Given the description of an element on the screen output the (x, y) to click on. 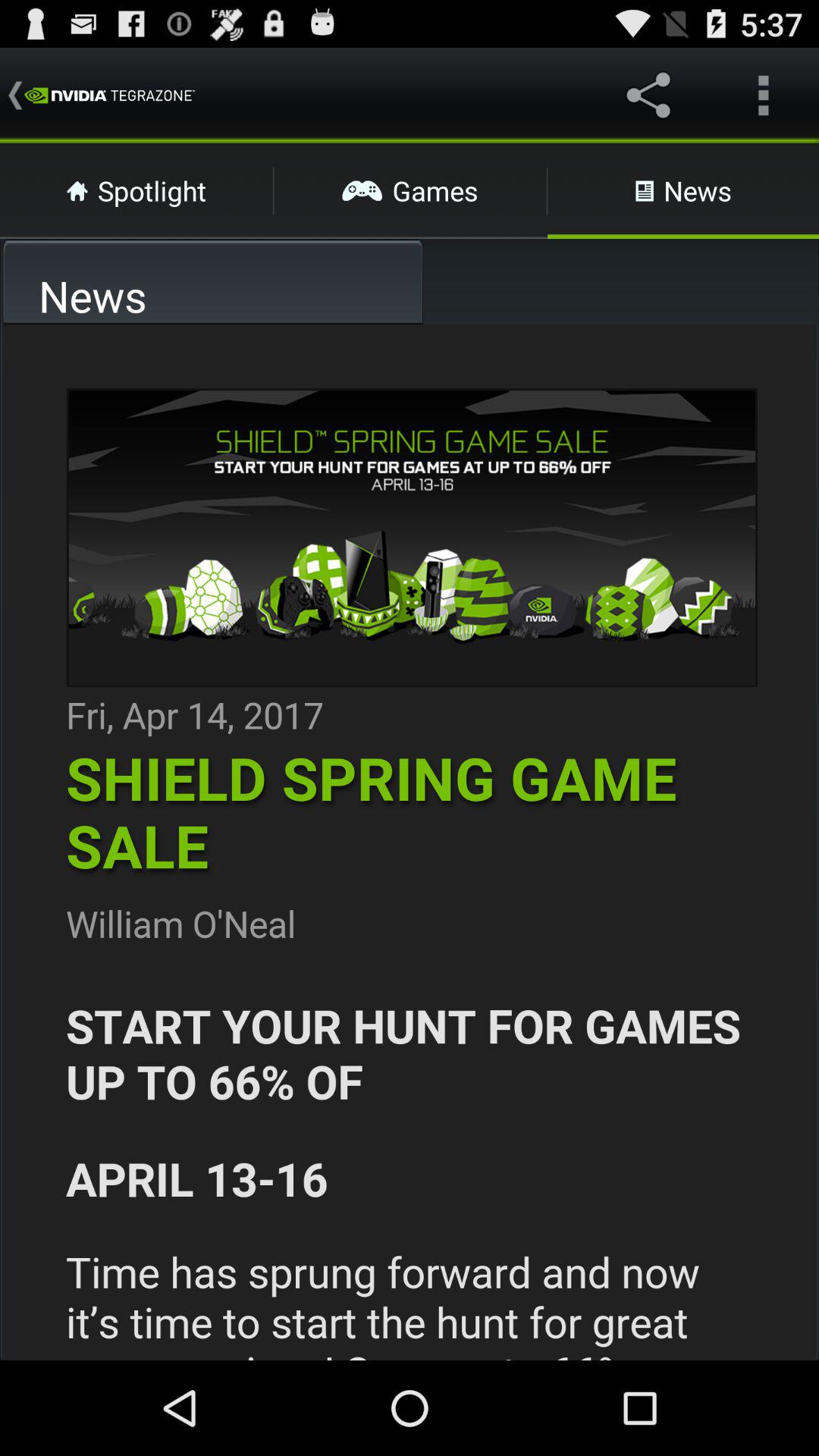
adventisment page (409, 842)
